Given the description of an element on the screen output the (x, y) to click on. 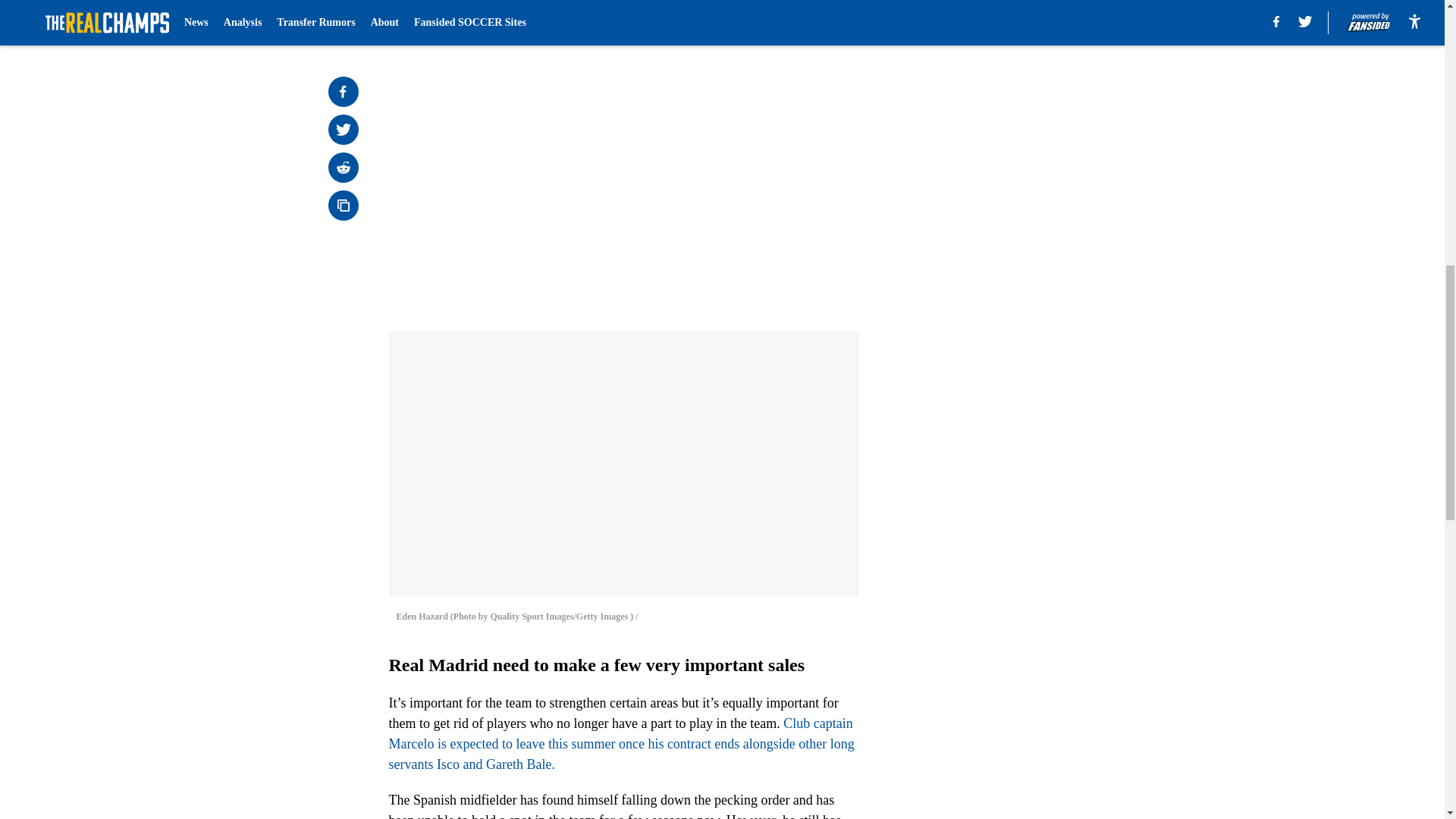
Prev (433, 20)
Next (813, 20)
